Given the description of an element on the screen output the (x, y) to click on. 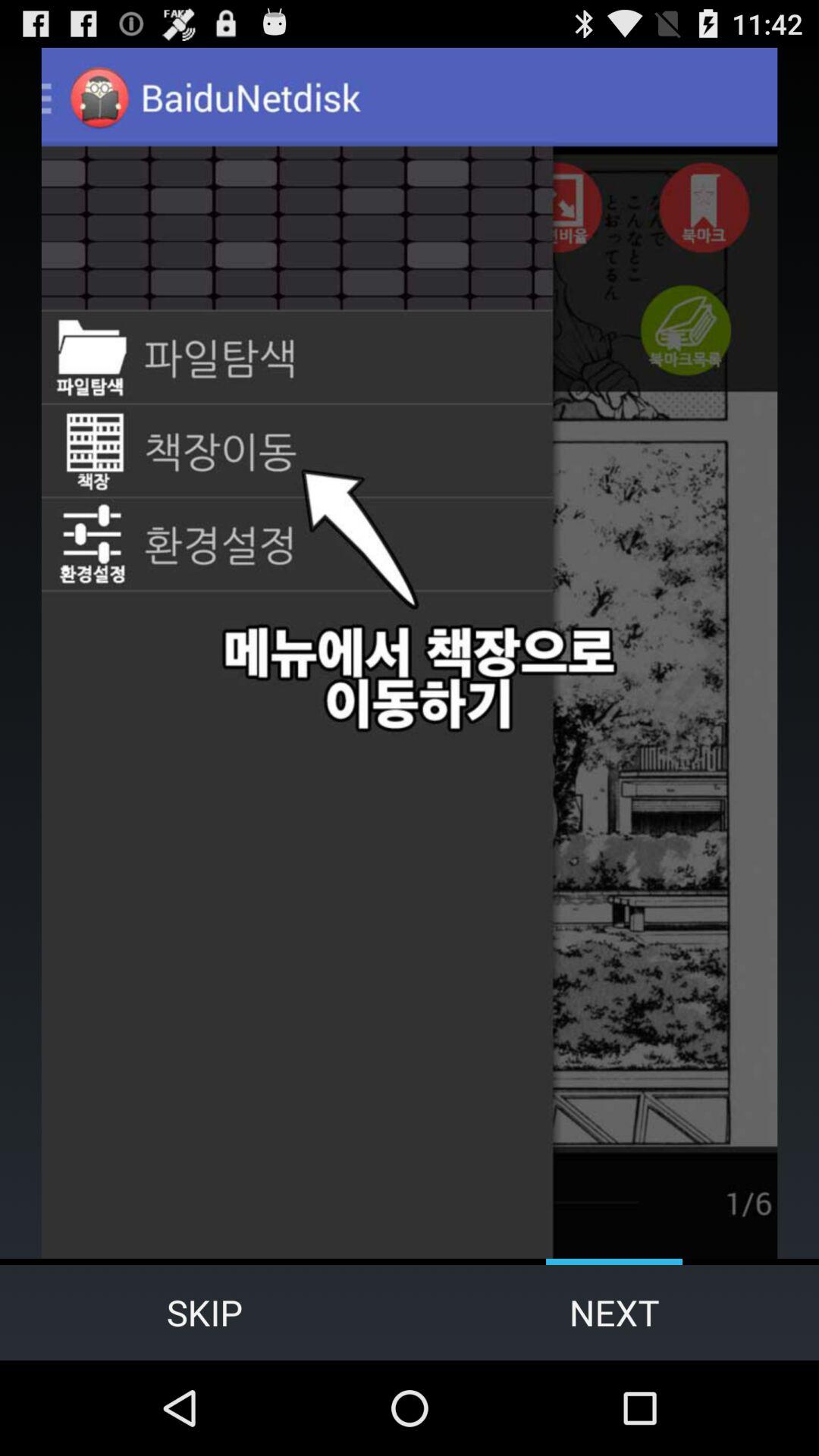
turn off the item at the bottom right corner (614, 1312)
